Given the description of an element on the screen output the (x, y) to click on. 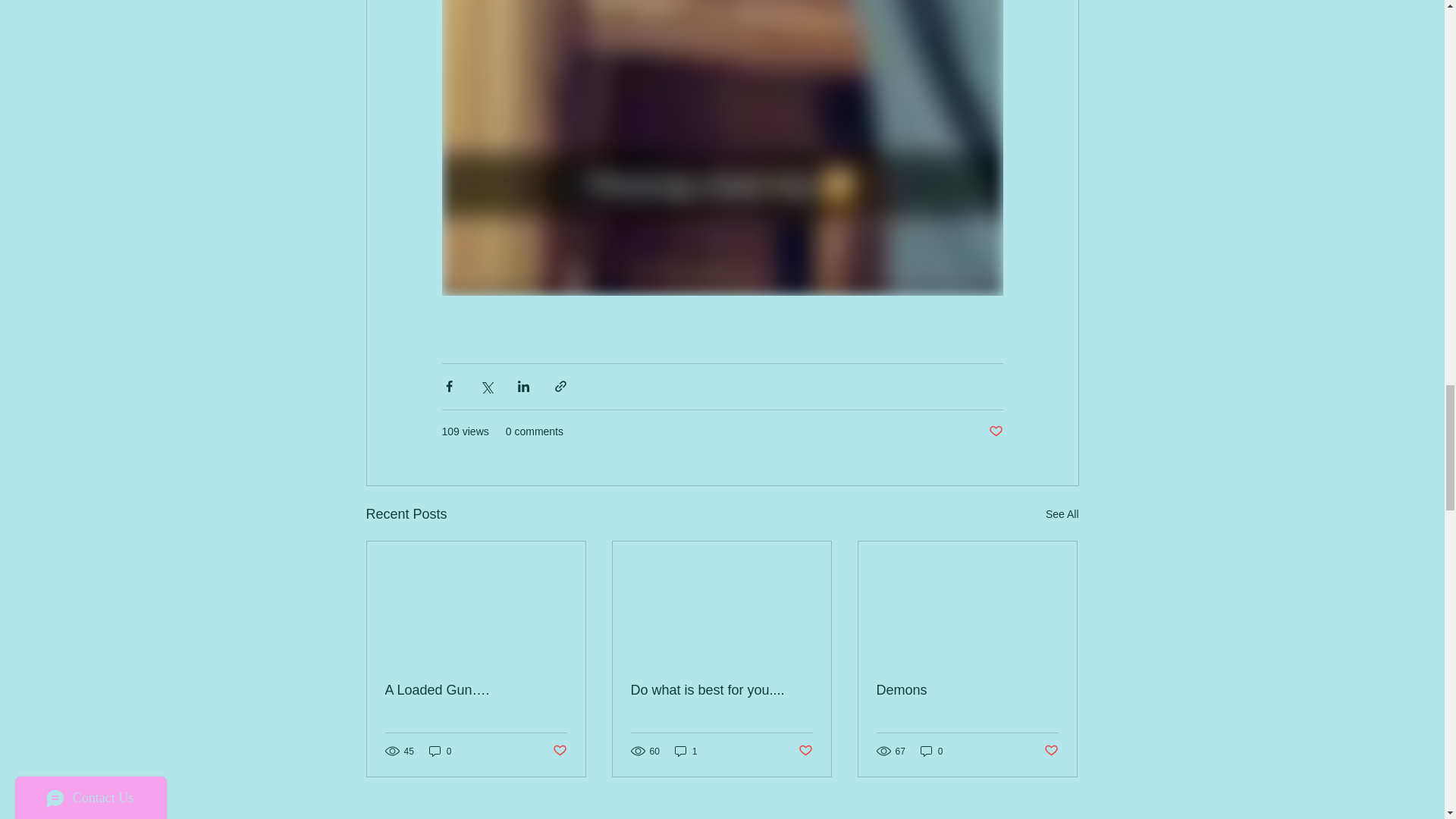
Post not marked as liked (558, 750)
0 (440, 750)
Post not marked as liked (1050, 750)
1 (685, 750)
Do what is best for you.... (721, 690)
Post not marked as liked (995, 431)
See All (1061, 514)
Demons (967, 690)
Post not marked as liked (804, 750)
0 (931, 750)
